Given the description of an element on the screen output the (x, y) to click on. 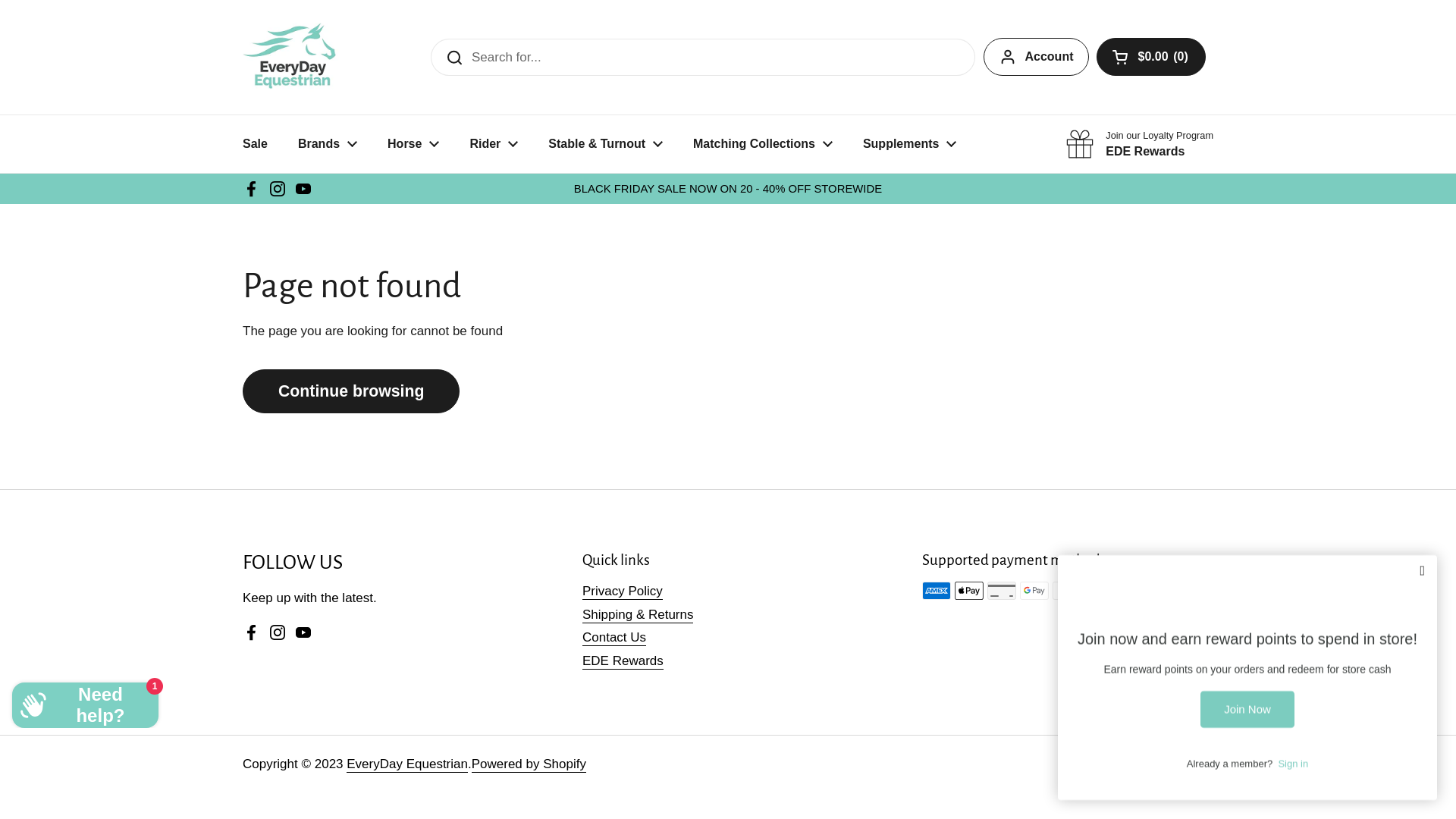
Shipping & Returns Element type: text (637, 615)
Supplements Element type: text (909, 143)
Horse Element type: text (413, 143)
Privacy Policy Element type: text (622, 591)
Brands Element type: text (327, 143)
Stable & Turnout Element type: text (605, 143)
Powered by Shopify Element type: text (528, 764)
YouTube Element type: text (303, 632)
BLACK FRIDAY SALE NOW ON 20 - 40% OFF STOREWIDE Element type: text (727, 188)
Skip to content Element type: text (0, 0)
Facebook Element type: text (251, 188)
Instagram Element type: text (277, 632)
Facebook Element type: text (251, 632)
Shopify online store chat Element type: hover (85, 702)
Rider Element type: text (493, 143)
EDE Rewards Element type: text (622, 661)
EveryDay Equestrian Element type: text (406, 764)
YouTube Element type: text (303, 188)
Contact Us Element type: text (614, 638)
EveryDay Equestrian Element type: hover (290, 56)
Matching Collections Element type: text (762, 143)
Join our Loyalty Program
EDE Rewards Element type: text (1139, 143)
Instagram Element type: text (277, 188)
Account Element type: text (1035, 56)
Open cart
$0.00
0 Element type: text (1150, 56)
Sale Element type: text (254, 143)
Continue browsing Element type: text (350, 391)
